Given the description of an element on the screen output the (x, y) to click on. 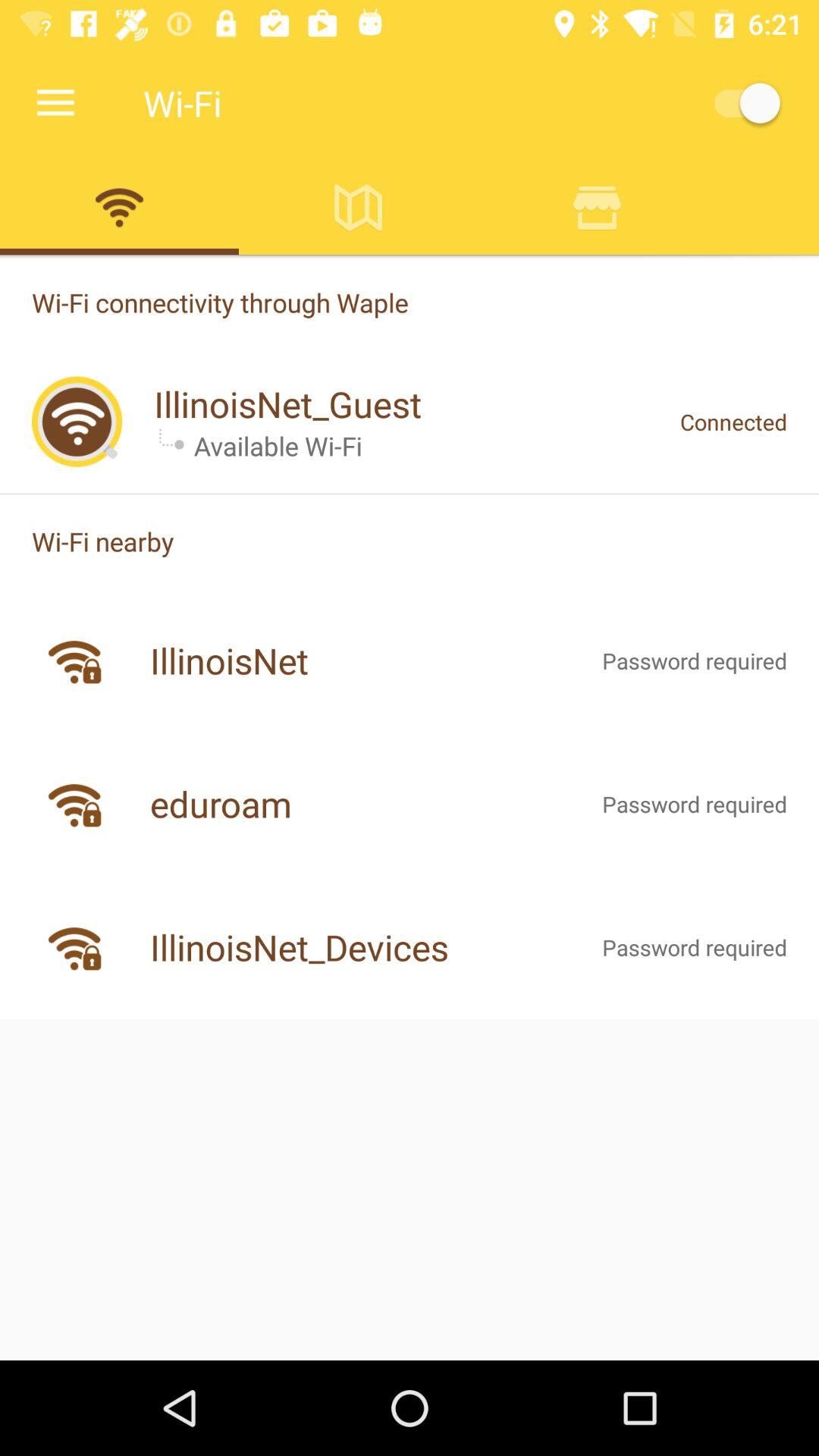
switch wifi option (119, 206)
